Given the description of an element on the screen output the (x, y) to click on. 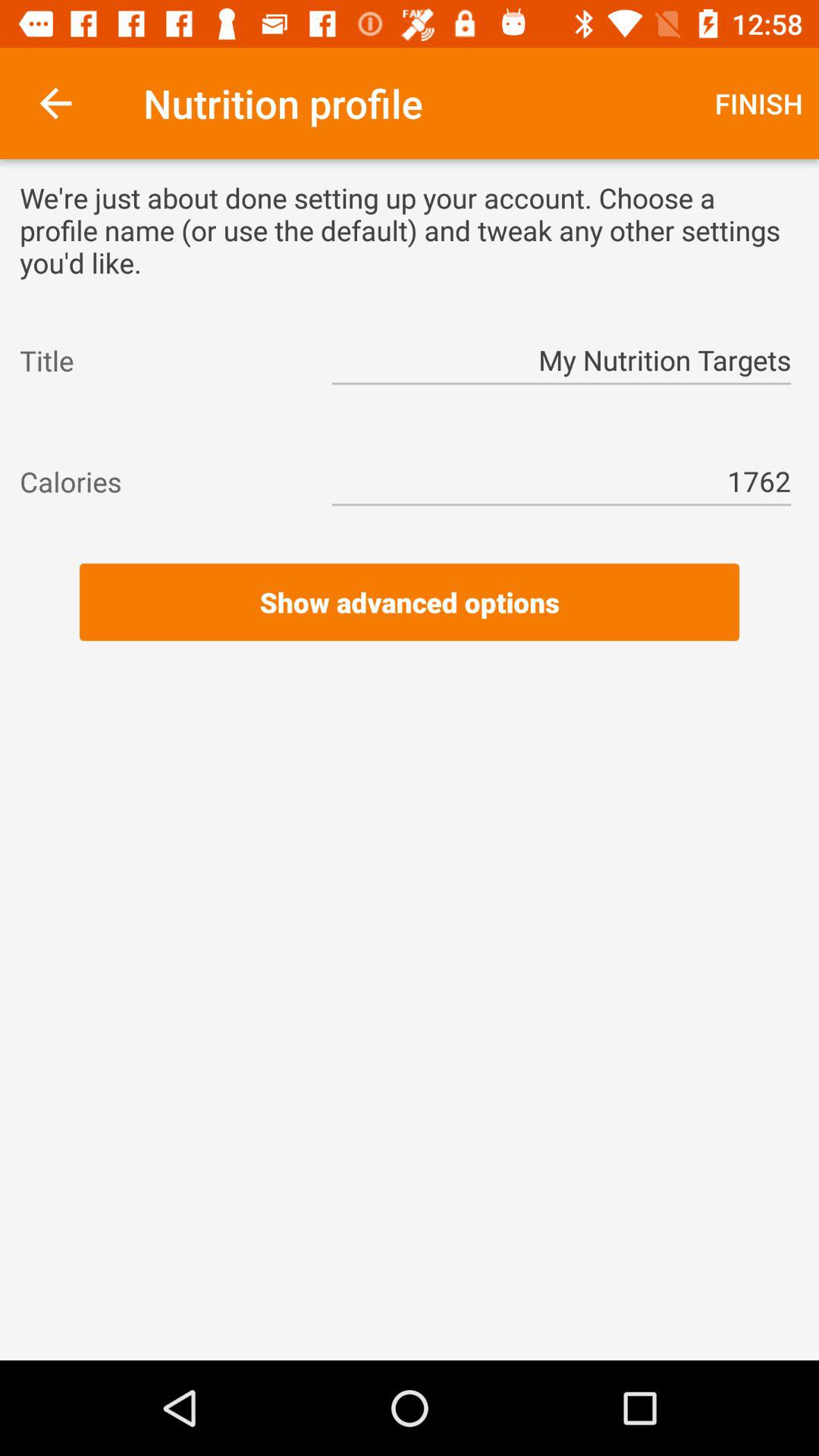
choose the icon below the we re just icon (161, 360)
